Given the description of an element on the screen output the (x, y) to click on. 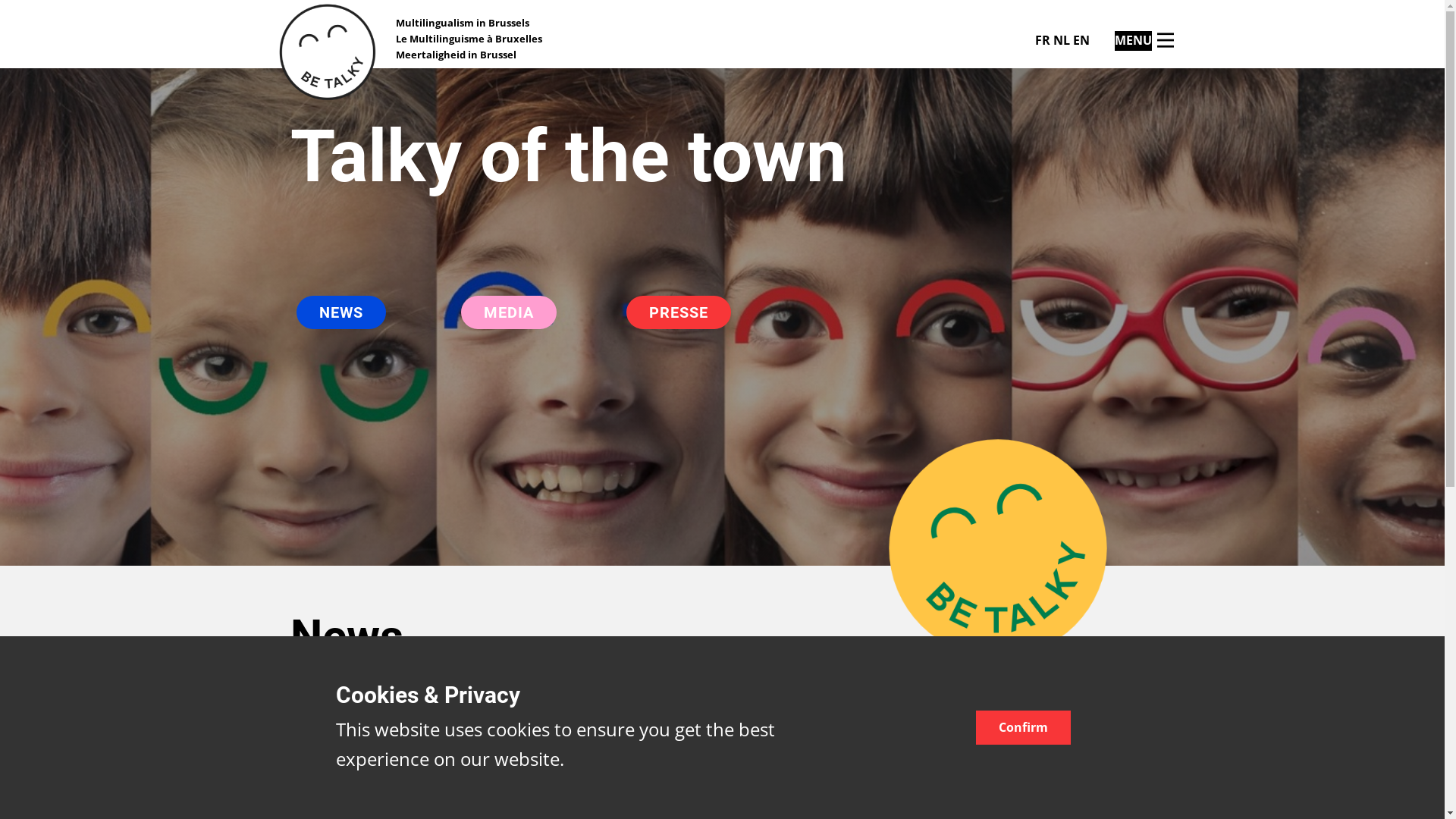
FR Element type: text (1041, 39)
NEWS Element type: text (340, 312)
MEDIA Element type: text (508, 312)
NL Element type: text (1060, 39)
EN Element type: text (1080, 39)
Accueil Element type: hover (326, 52)
PRESSE Element type: text (678, 312)
Confirm Element type: text (1022, 727)
